Given the description of an element on the screen output the (x, y) to click on. 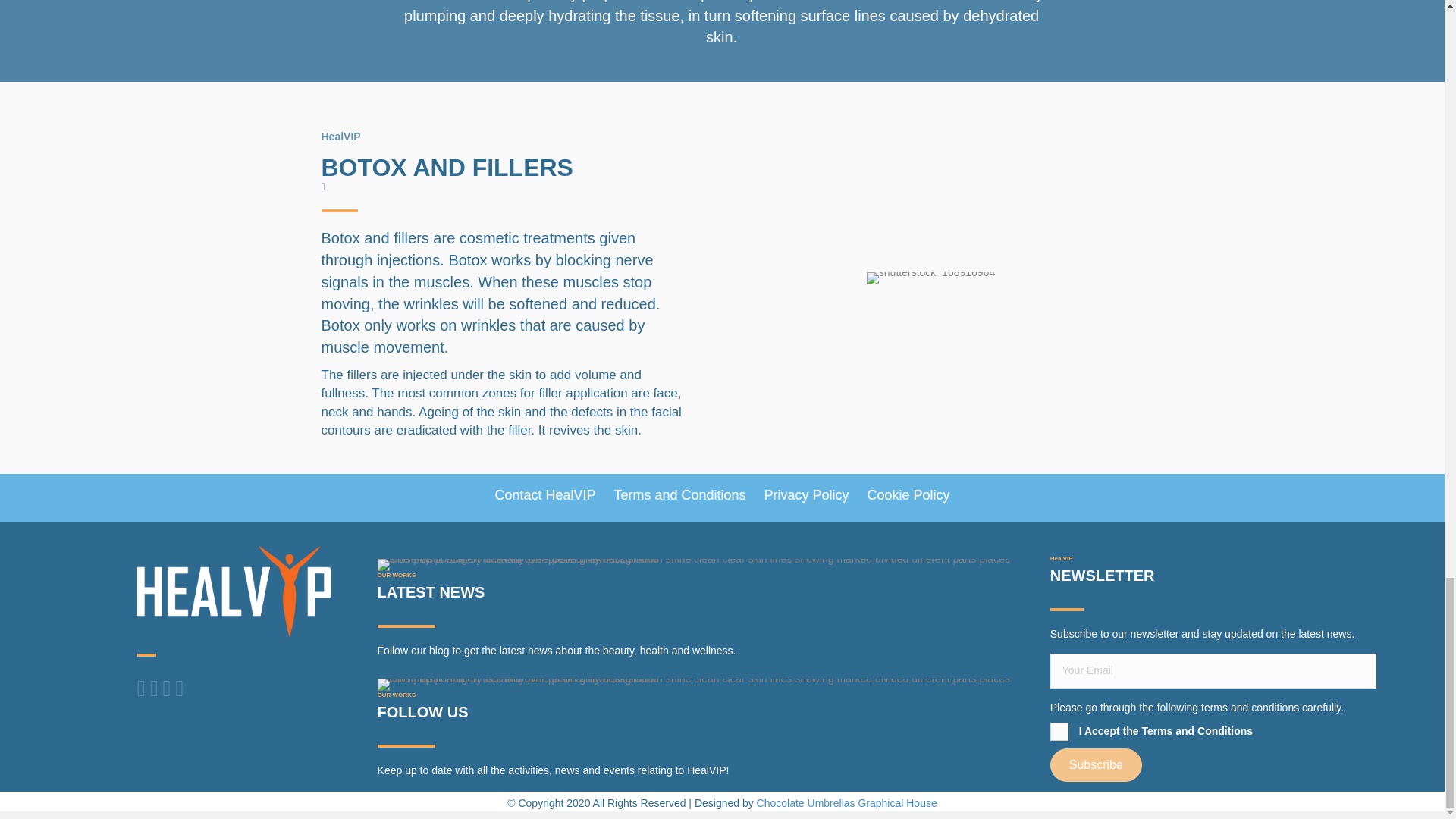
Privacy Policy (805, 495)
HealVIP-Logo (233, 592)
Terms and Conditions (679, 495)
Subscribe (1095, 765)
Cookie Policy (907, 495)
Chocolate Umbrellas Graphical House (847, 802)
Contact HealVIP (545, 495)
